Given the description of an element on the screen output the (x, y) to click on. 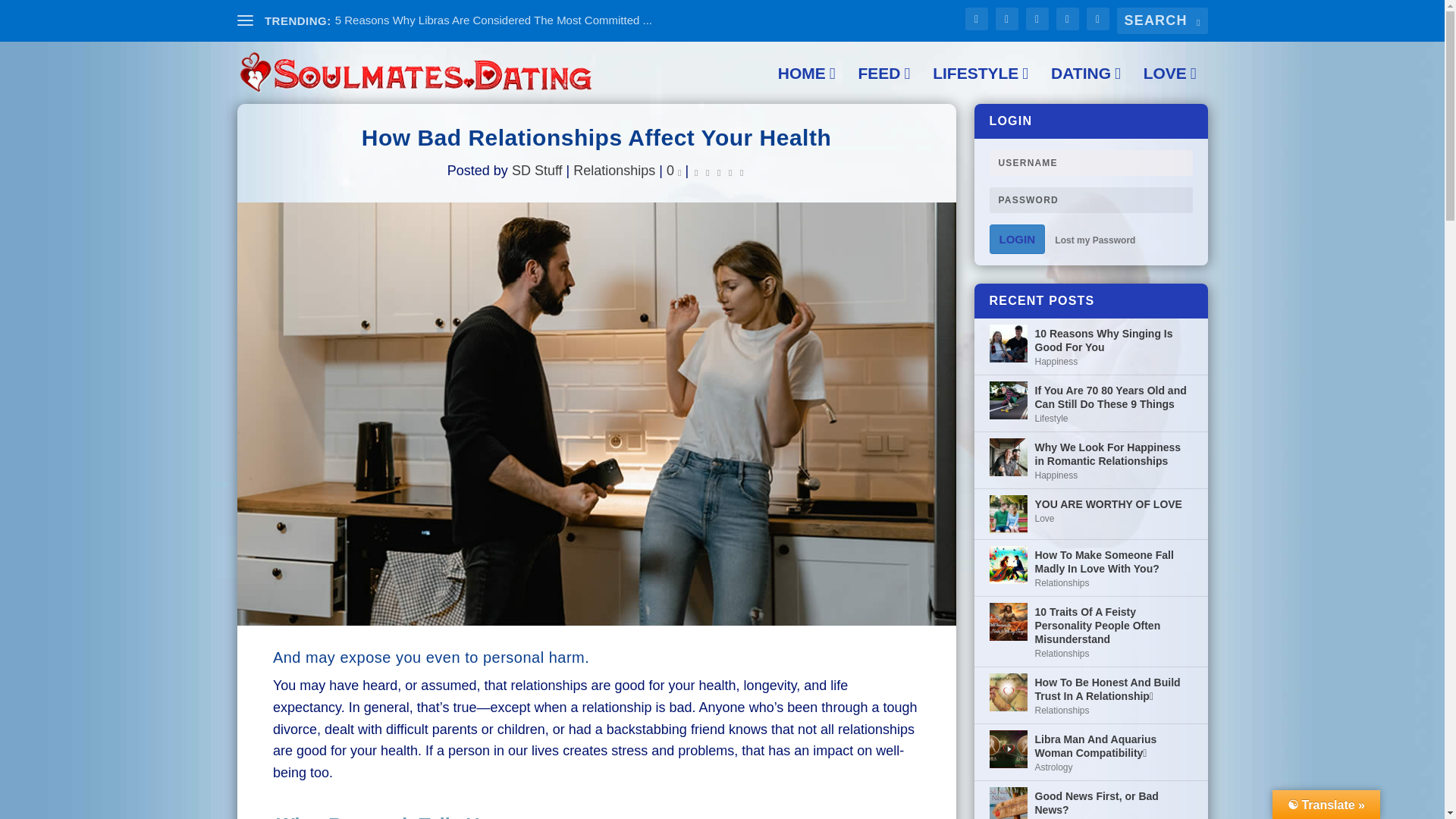
Search for: (1161, 20)
DATING (1086, 84)
Relationships (614, 170)
FEED (883, 84)
LOVE (1169, 84)
5 Reasons Why Libras Are Considered The Most Committed ... (493, 19)
LIFESTYLE (980, 84)
HOME (806, 84)
SD Stuff (537, 170)
